Given the description of an element on the screen output the (x, y) to click on. 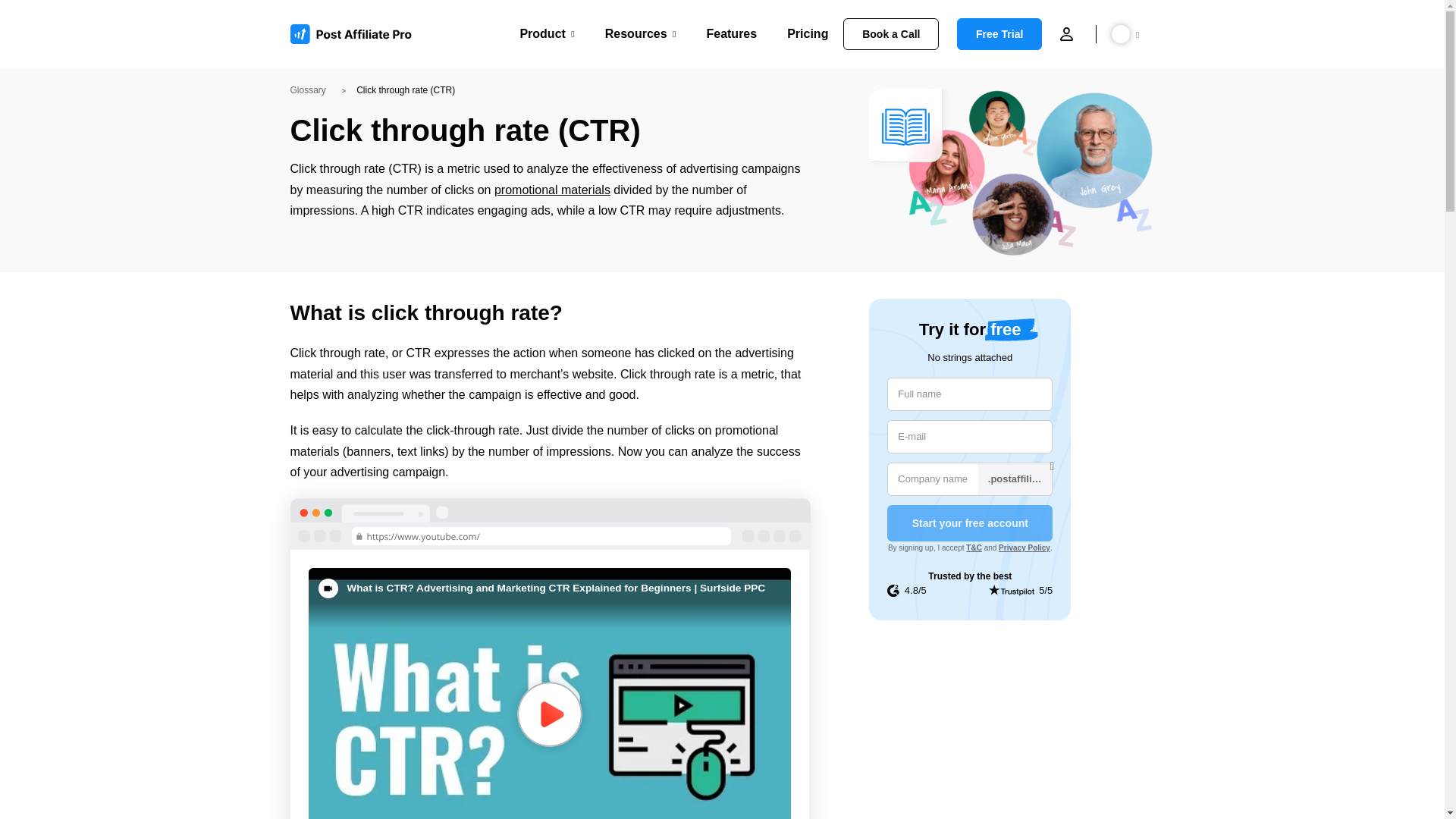
Resources (641, 33)
Pricing (807, 33)
Product (546, 33)
PostAffiliatePro affiliate software (355, 34)
Features (731, 33)
